Given the description of an element on the screen output the (x, y) to click on. 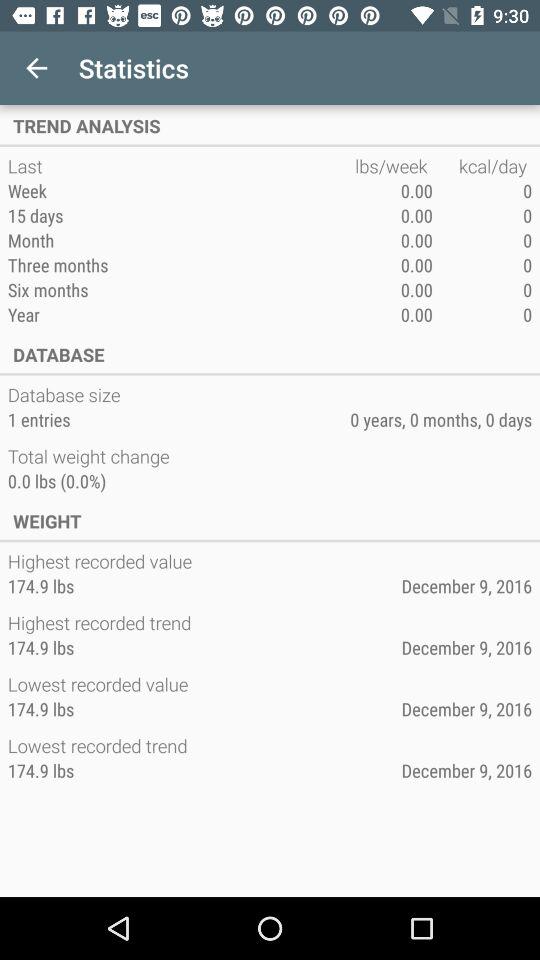
select item above database (181, 314)
